Given the description of an element on the screen output the (x, y) to click on. 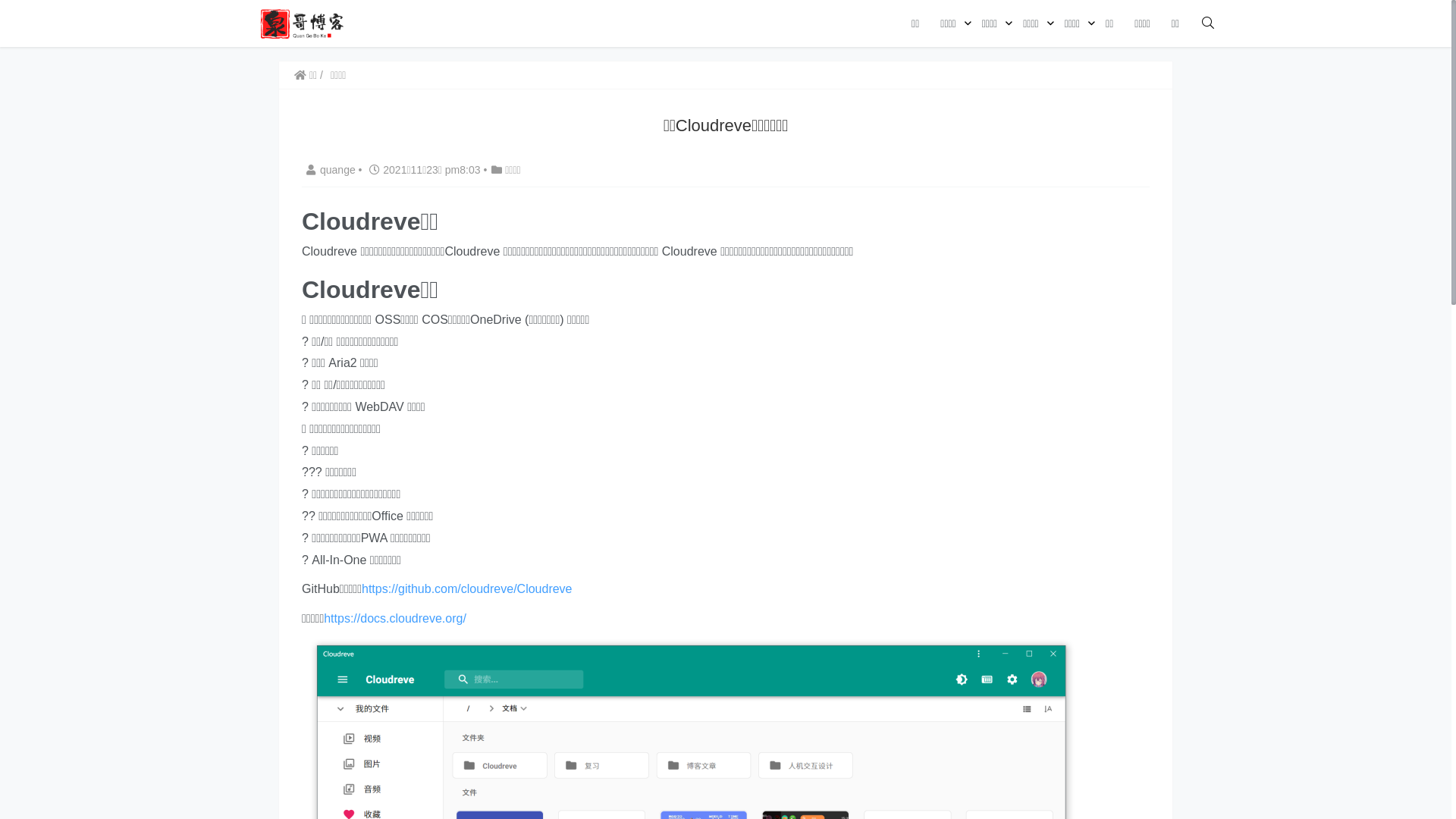
https://github.com/cloudreve/Cloudreve Element type: text (466, 588)
https://docs.cloudreve.org/ Element type: text (394, 617)
quange Element type: text (329, 169)
